Given the description of an element on the screen output the (x, y) to click on. 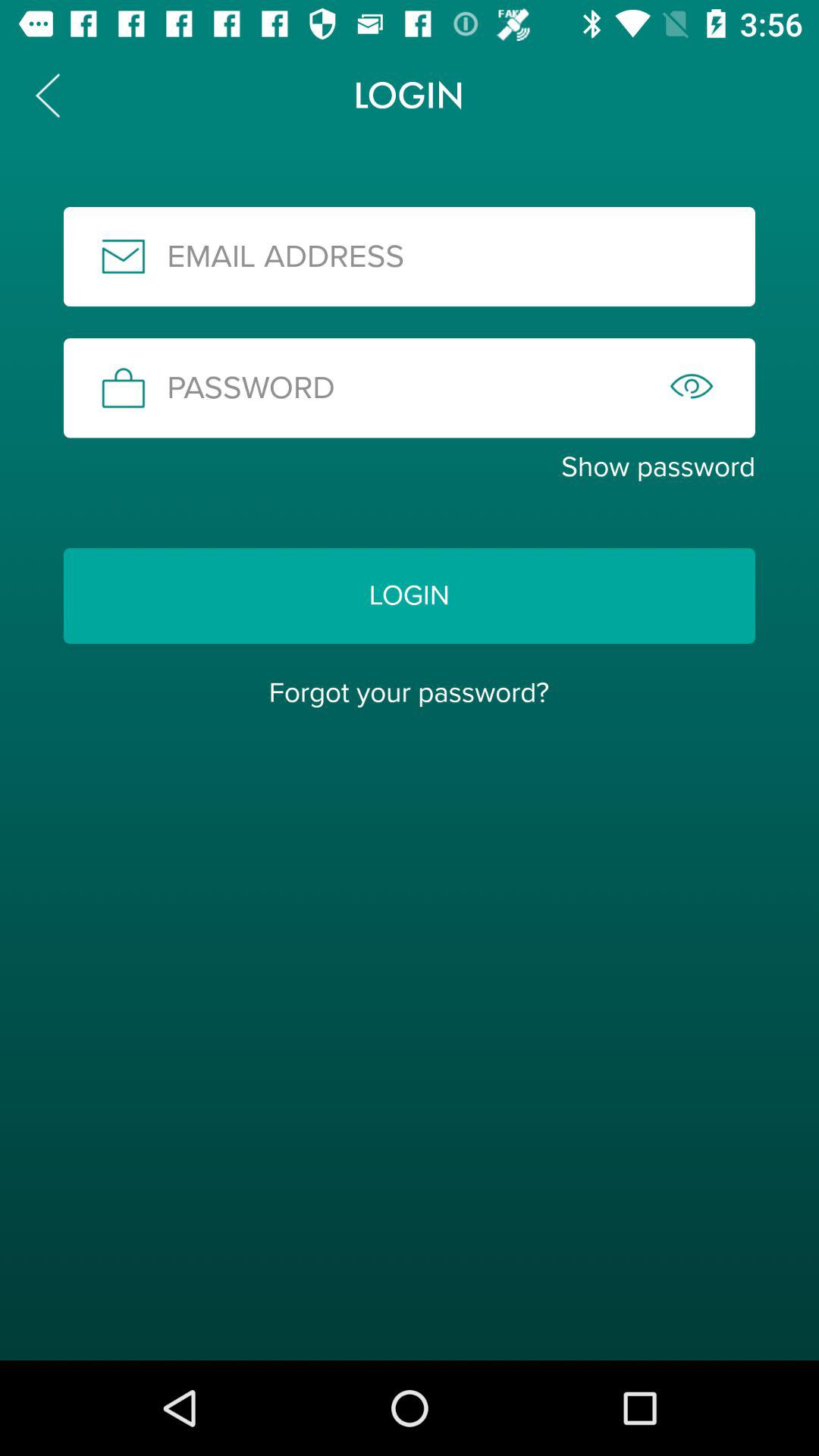
open item above the login (409, 466)
